Given the description of an element on the screen output the (x, y) to click on. 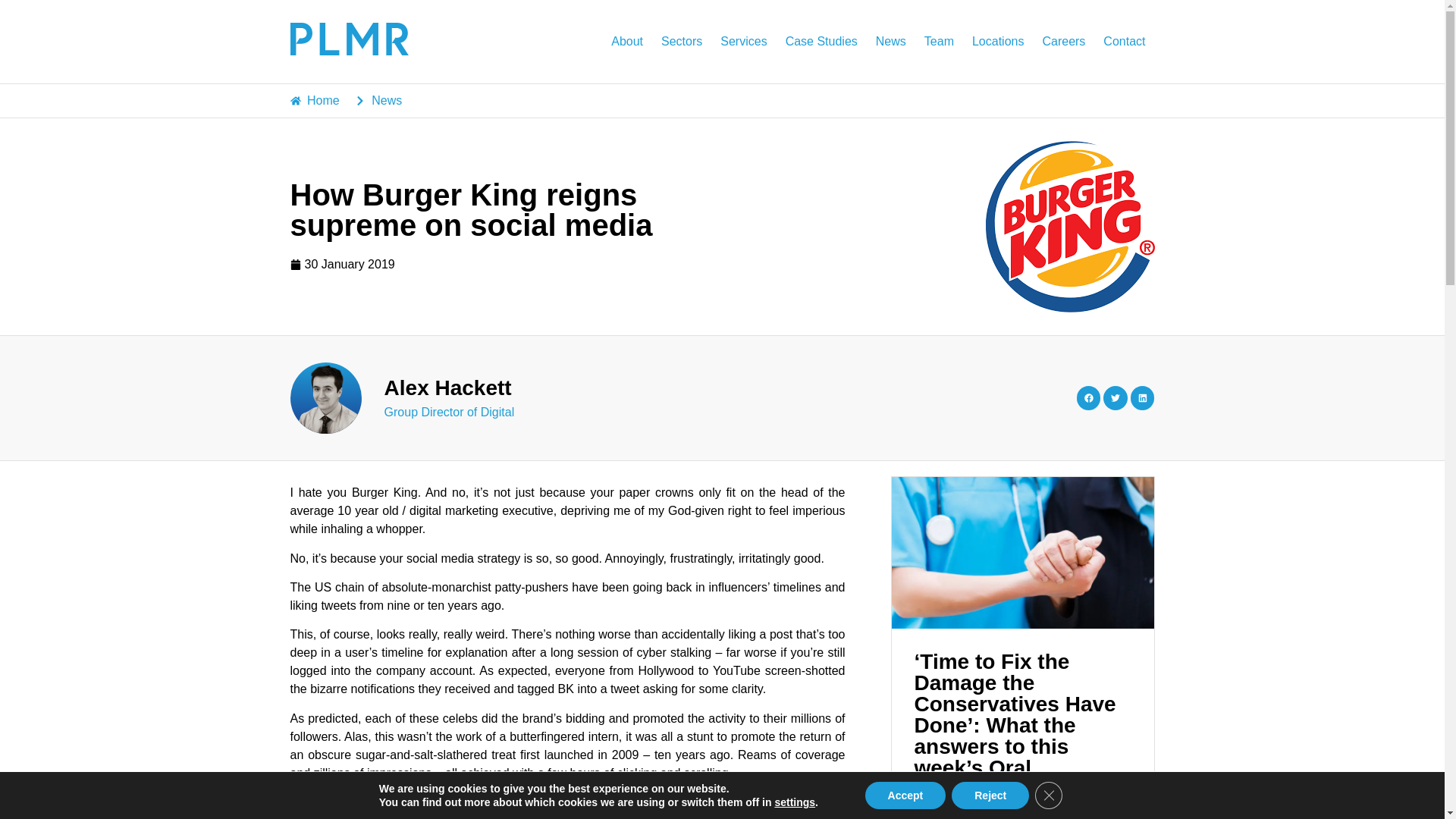
Team (938, 41)
Sectors (681, 41)
Services (743, 41)
Careers (1063, 41)
About (627, 41)
News (890, 41)
Home (314, 100)
Locations (997, 41)
Contact (1124, 41)
Case Studies (821, 41)
